Given the description of an element on the screen output the (x, y) to click on. 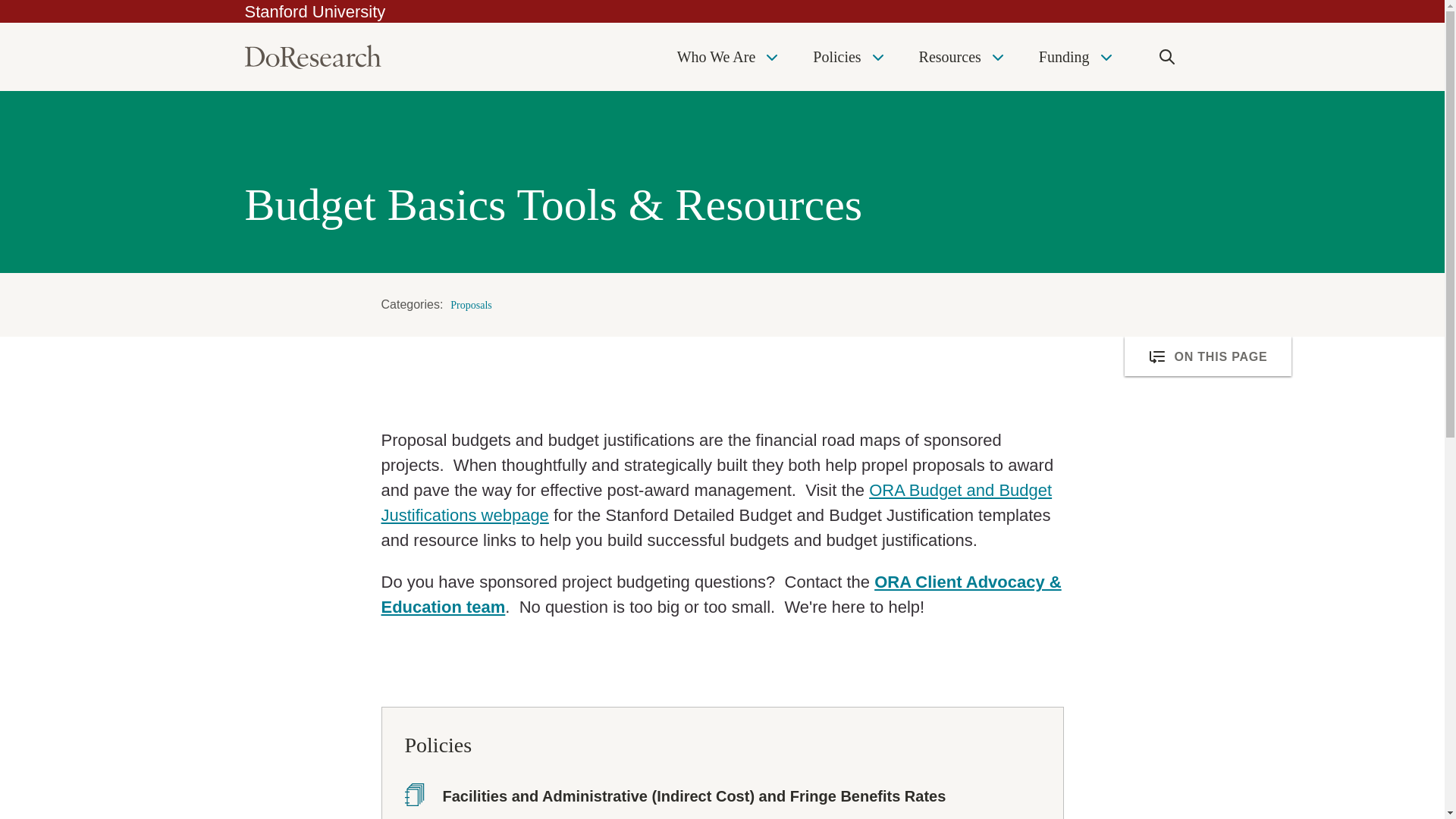
Skip to main content (4, 4)
Stanford University (314, 11)
Funding (1077, 56)
Home (312, 56)
Policies (849, 56)
Who We Are (729, 56)
Resources (962, 56)
